Given the description of an element on the screen output the (x, y) to click on. 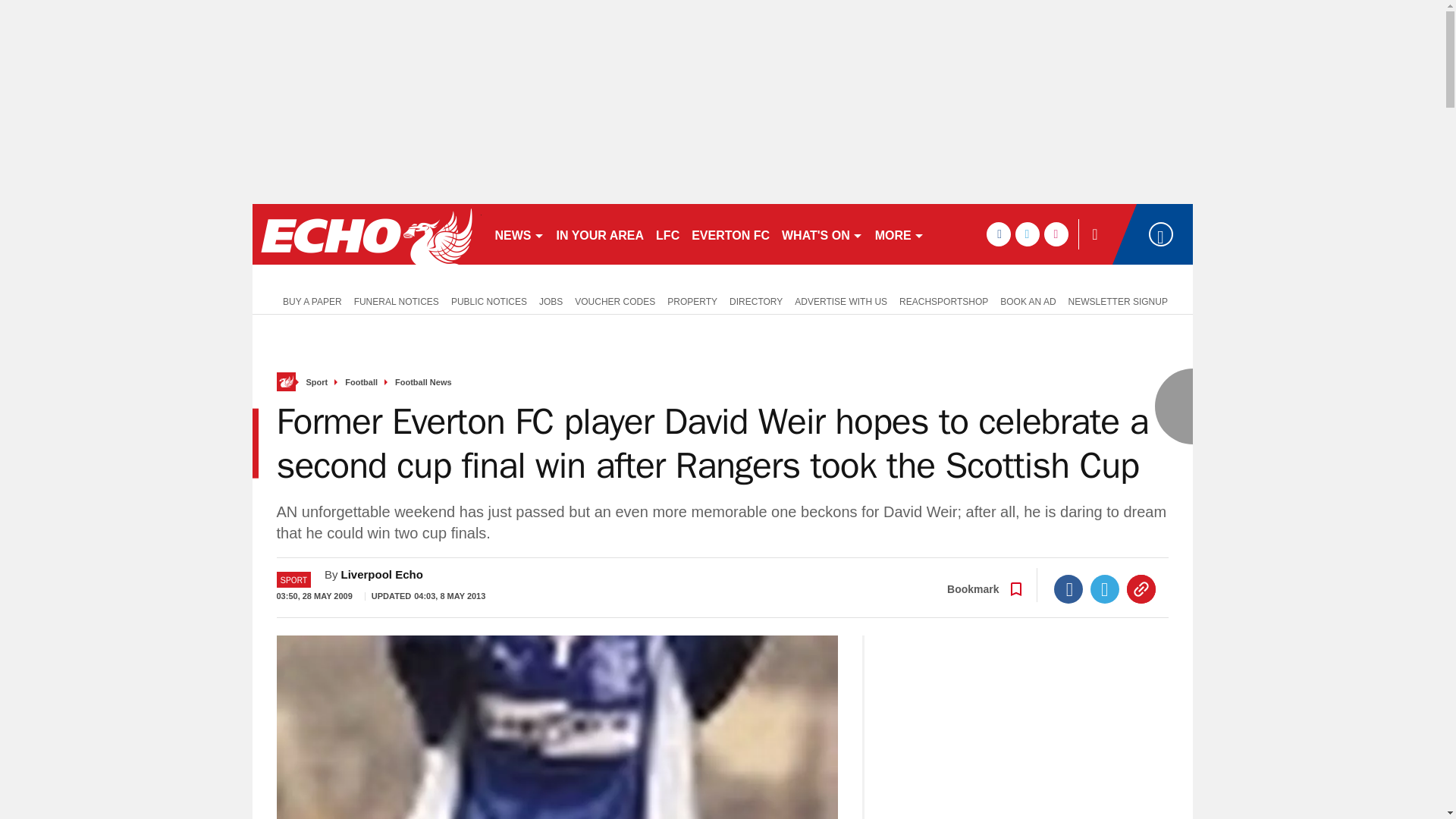
EVERTON FC (730, 233)
IN YOUR AREA (600, 233)
Facebook (1068, 588)
facebook (997, 233)
liverpoolecho (365, 233)
NEWS (518, 233)
twitter (1026, 233)
instagram (1055, 233)
Twitter (1104, 588)
WHAT'S ON (822, 233)
